Given the description of an element on the screen output the (x, y) to click on. 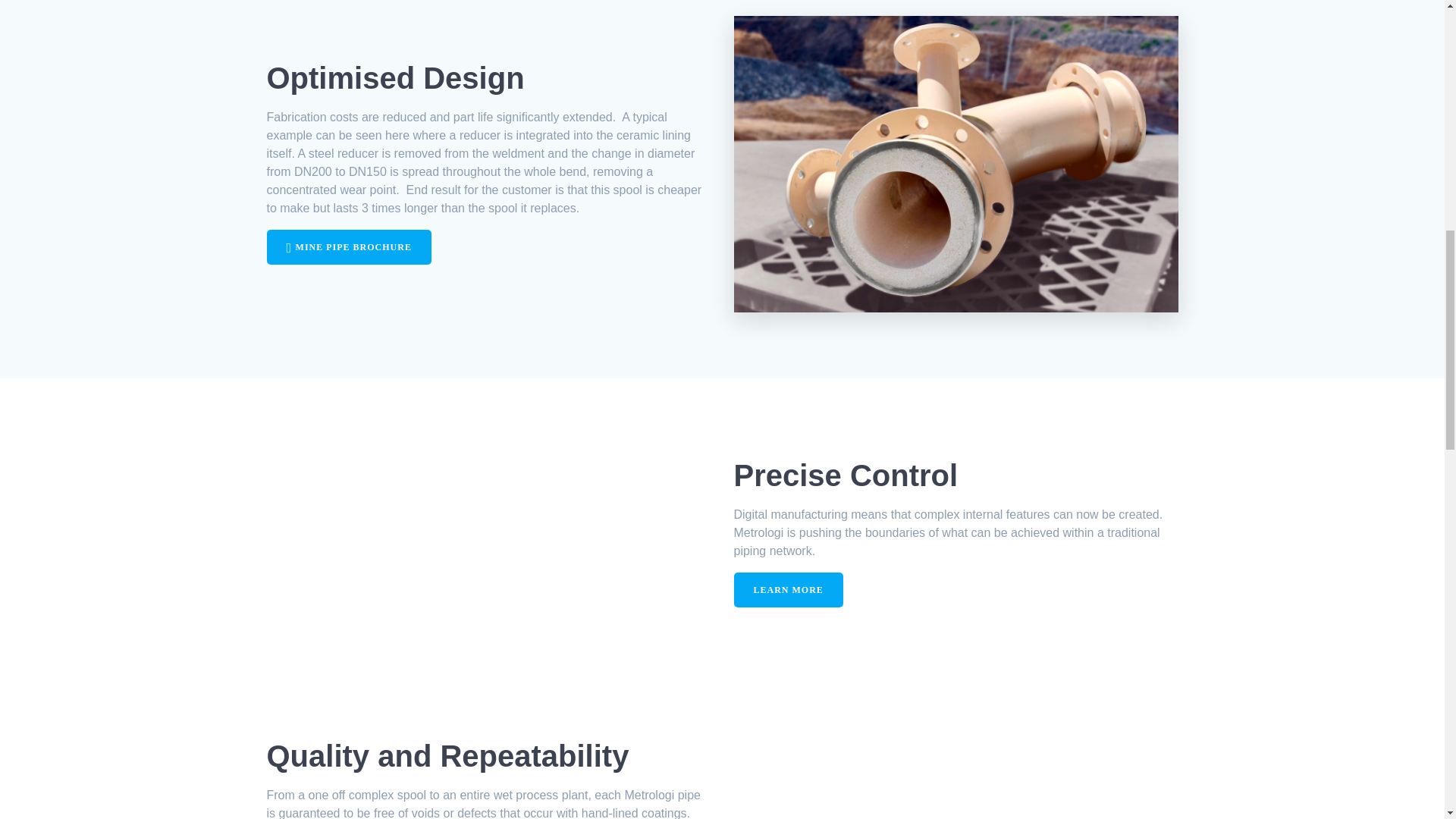
LEARN MORE (788, 589)
MINE PIPE BROCHURE (348, 247)
